Given the description of an element on the screen output the (x, y) to click on. 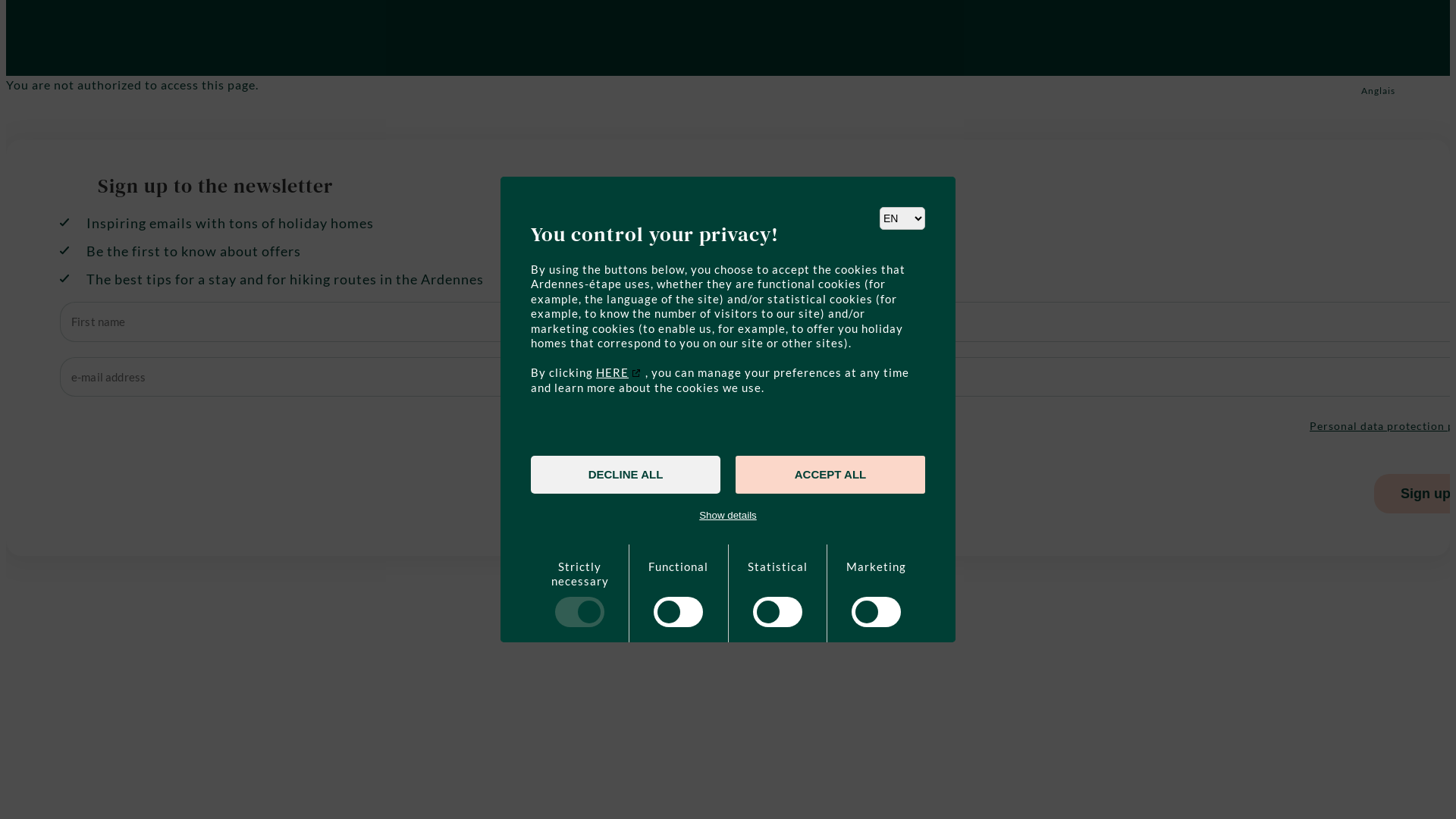
ACCEPT ALL Element type: text (830, 474)
DECLINE ALL Element type: text (625, 474)
on Element type: text (777, 593)
on Element type: text (876, 593)
HERE Element type: text (619, 372)
Show details Element type: text (727, 514)
on Element type: text (678, 593)
Skip to main content Element type: text (6, 0)
